Given the description of an element on the screen output the (x, y) to click on. 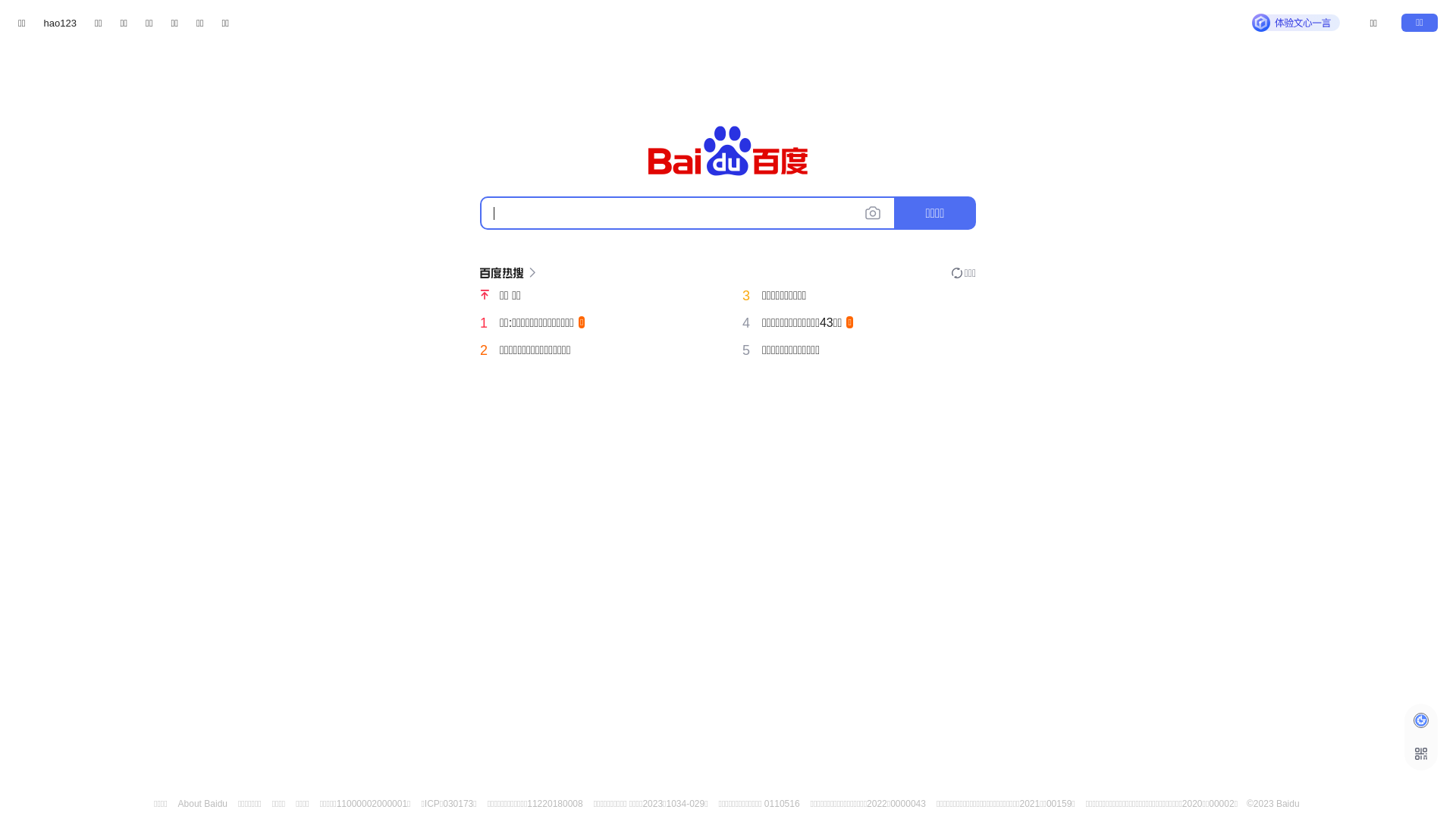
hao123 Element type: text (59, 22)
About Baidu Element type: text (202, 803)
